Given the description of an element on the screen output the (x, y) to click on. 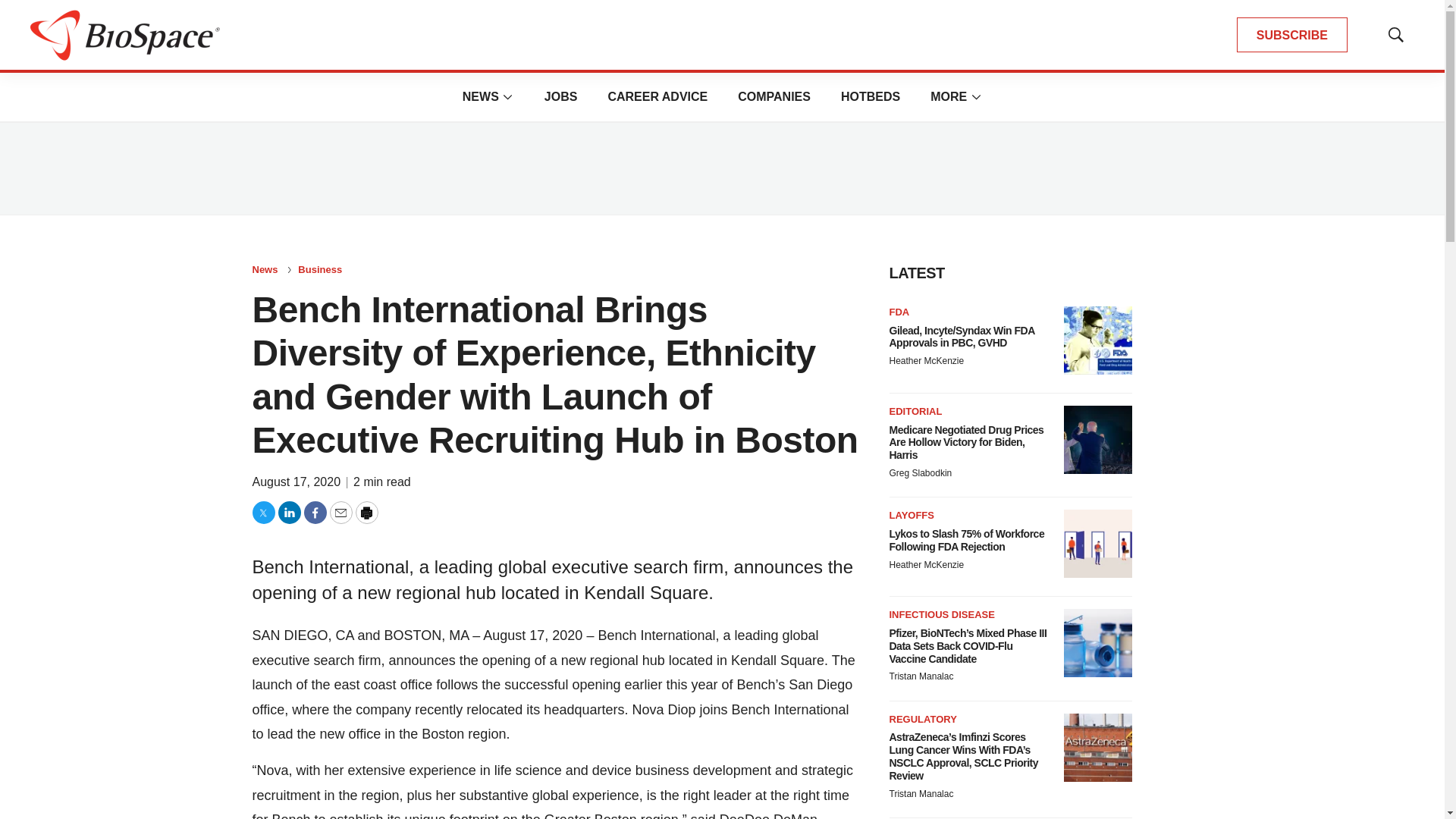
NEWS (481, 96)
Show Search (1395, 34)
SUBSCRIBE (1292, 34)
3rd party ad content (721, 168)
